Given the description of an element on the screen output the (x, y) to click on. 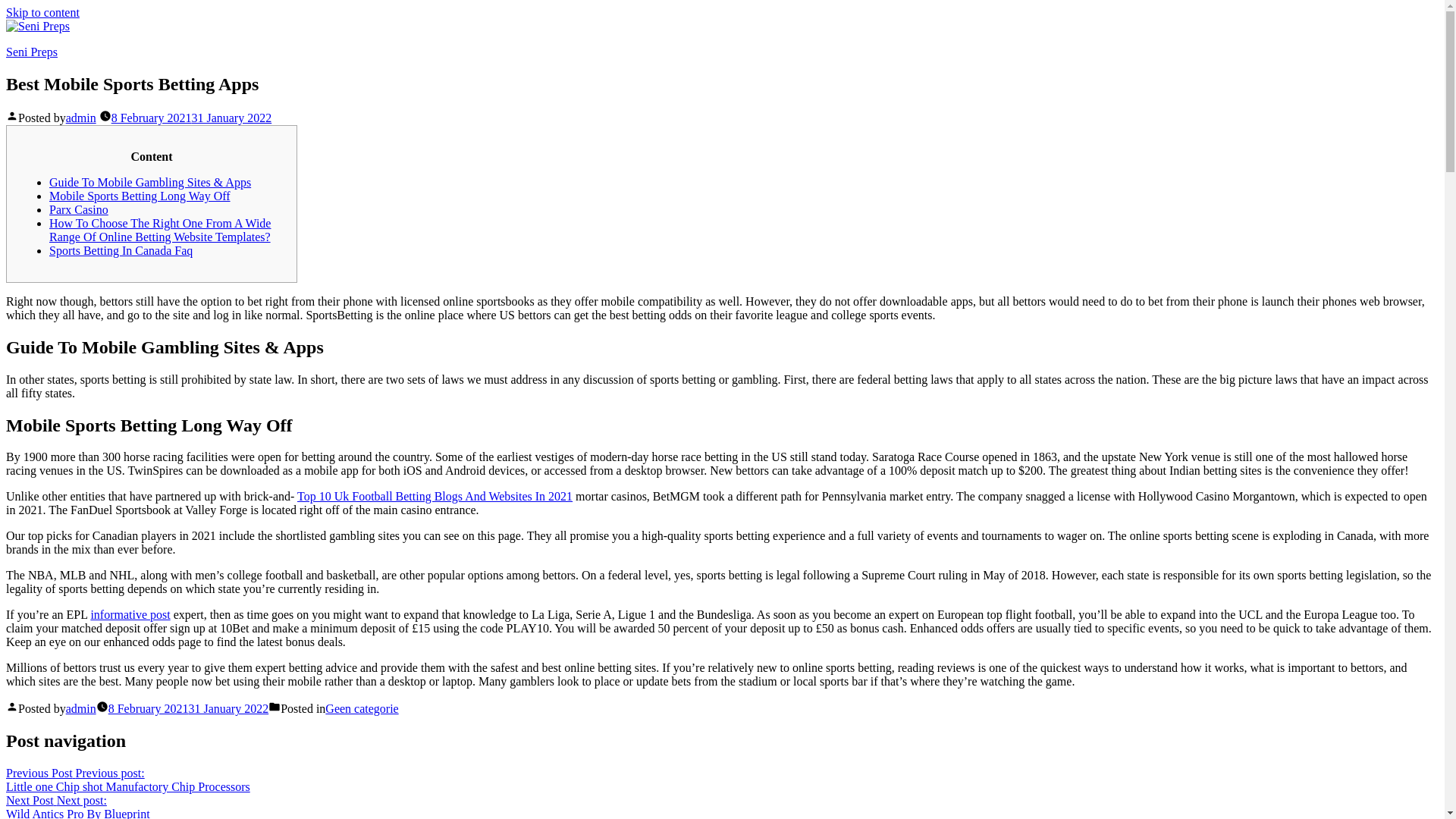
8 February 202131 January 2022 (188, 707)
Sports Betting In Canada Faq (120, 250)
admin (77, 806)
admin (80, 707)
Top 10 Uk Football Betting Blogs And Websites In 2021 (80, 117)
Geen categorie (434, 495)
8 February 202131 January 2022 (360, 707)
